Given the description of an element on the screen output the (x, y) to click on. 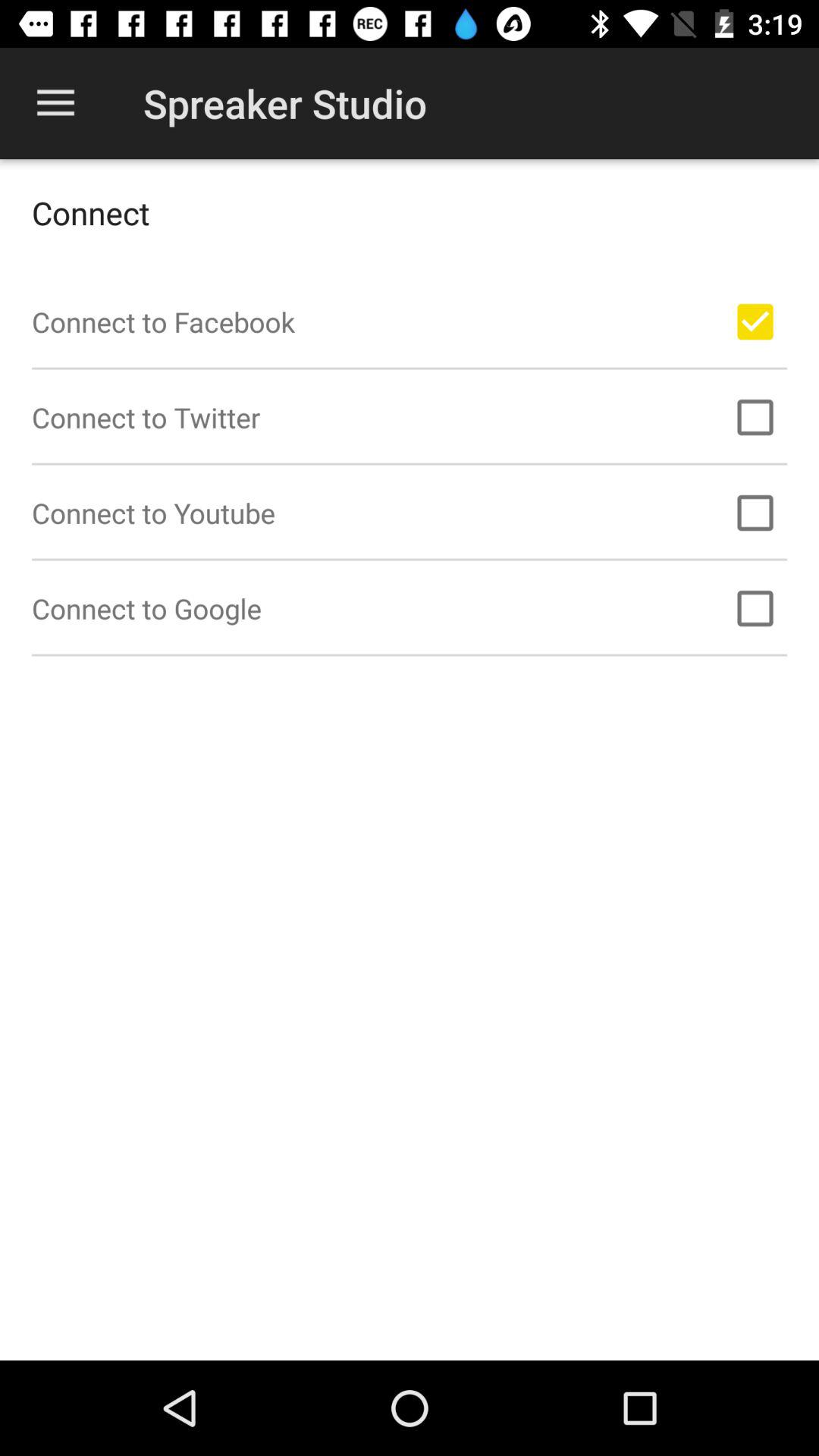
connect google account (755, 608)
